Given the description of an element on the screen output the (x, y) to click on. 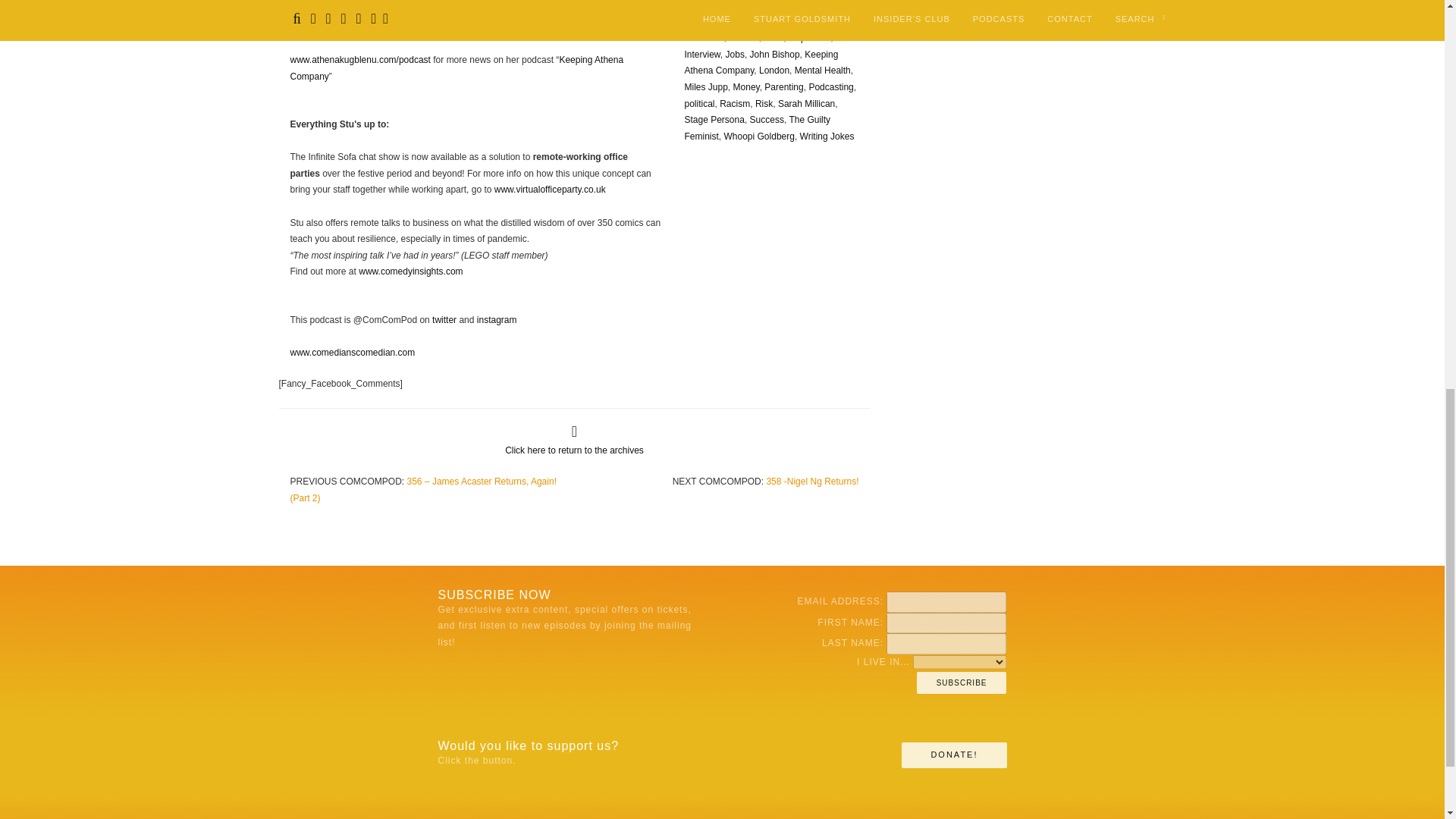
www.comedyinsights.com (410, 271)
Keeping Athena Company (456, 67)
COVID-19 (793, 21)
www.athenakugblenu.com (342, 27)
Coping (753, 21)
www.virtualofficeparty.co.uk (550, 189)
Subscribe (962, 682)
BBC (776, 5)
www.comedianscomedian.com (351, 352)
twitter (444, 319)
comcompod (708, 21)
instagram (496, 319)
Audiences (705, 5)
Awards (746, 5)
BBC One (809, 5)
